Given the description of an element on the screen output the (x, y) to click on. 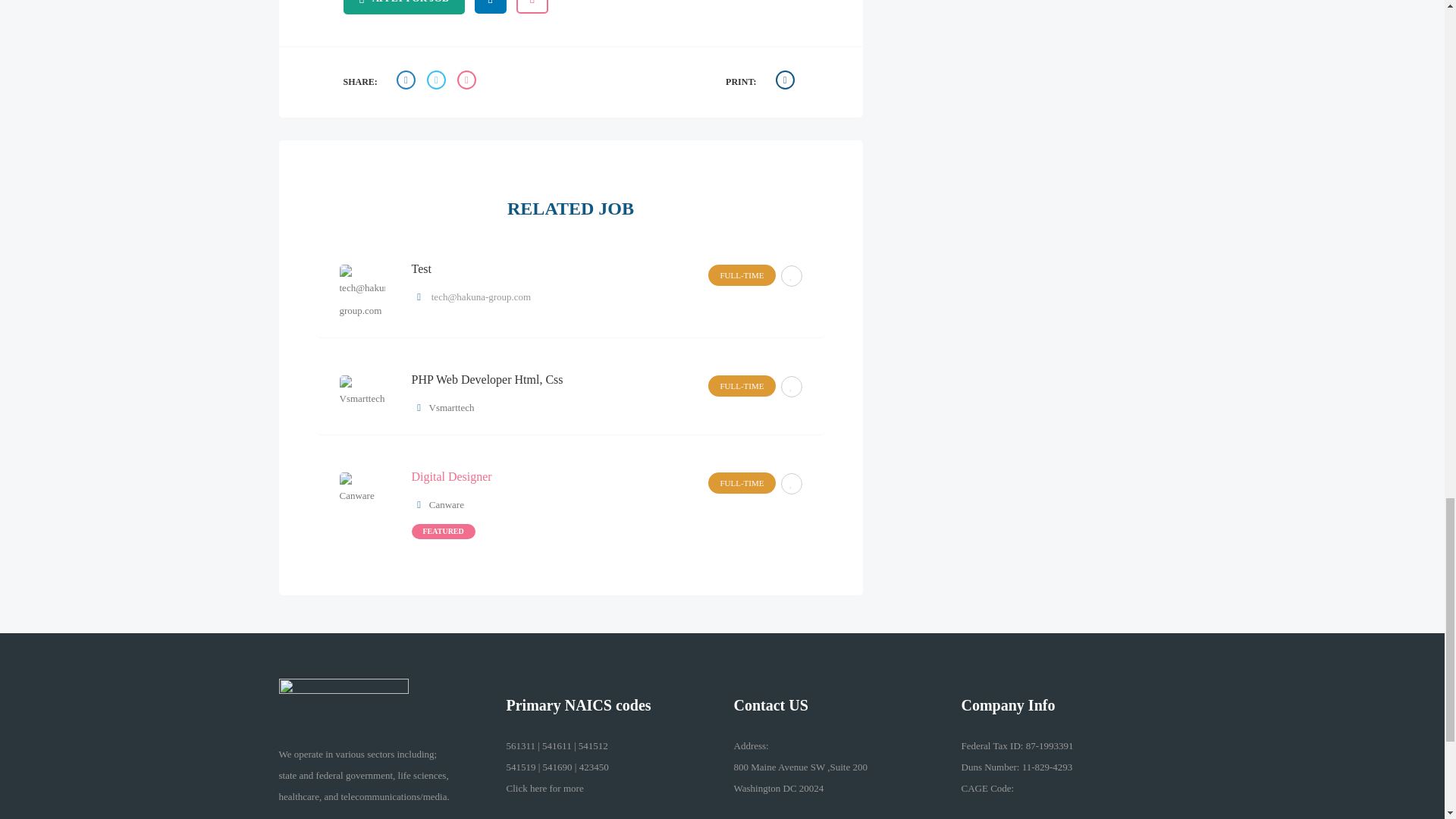
Share on Twitter (437, 82)
Share on Facebook (407, 82)
Share on Linkedin (468, 82)
LINKEDIN APPLY (490, 6)
